Given the description of an element on the screen output the (x, y) to click on. 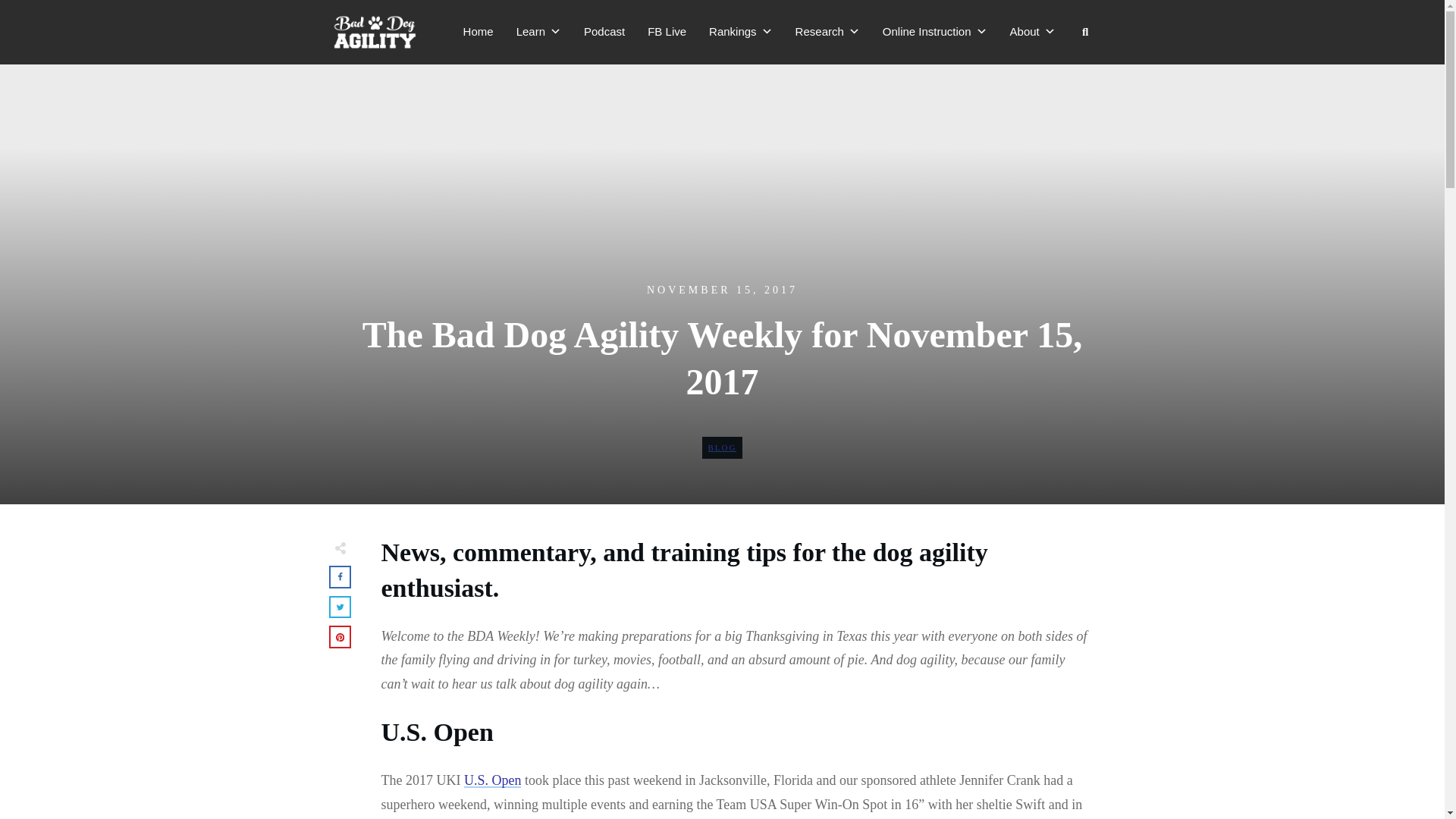
Rankings (740, 31)
FB Live (666, 31)
Home (478, 31)
Online Instruction (935, 31)
Learn (538, 31)
About (1032, 31)
Podcast (603, 31)
Research (827, 31)
Blog (721, 447)
